Given the description of an element on the screen output the (x, y) to click on. 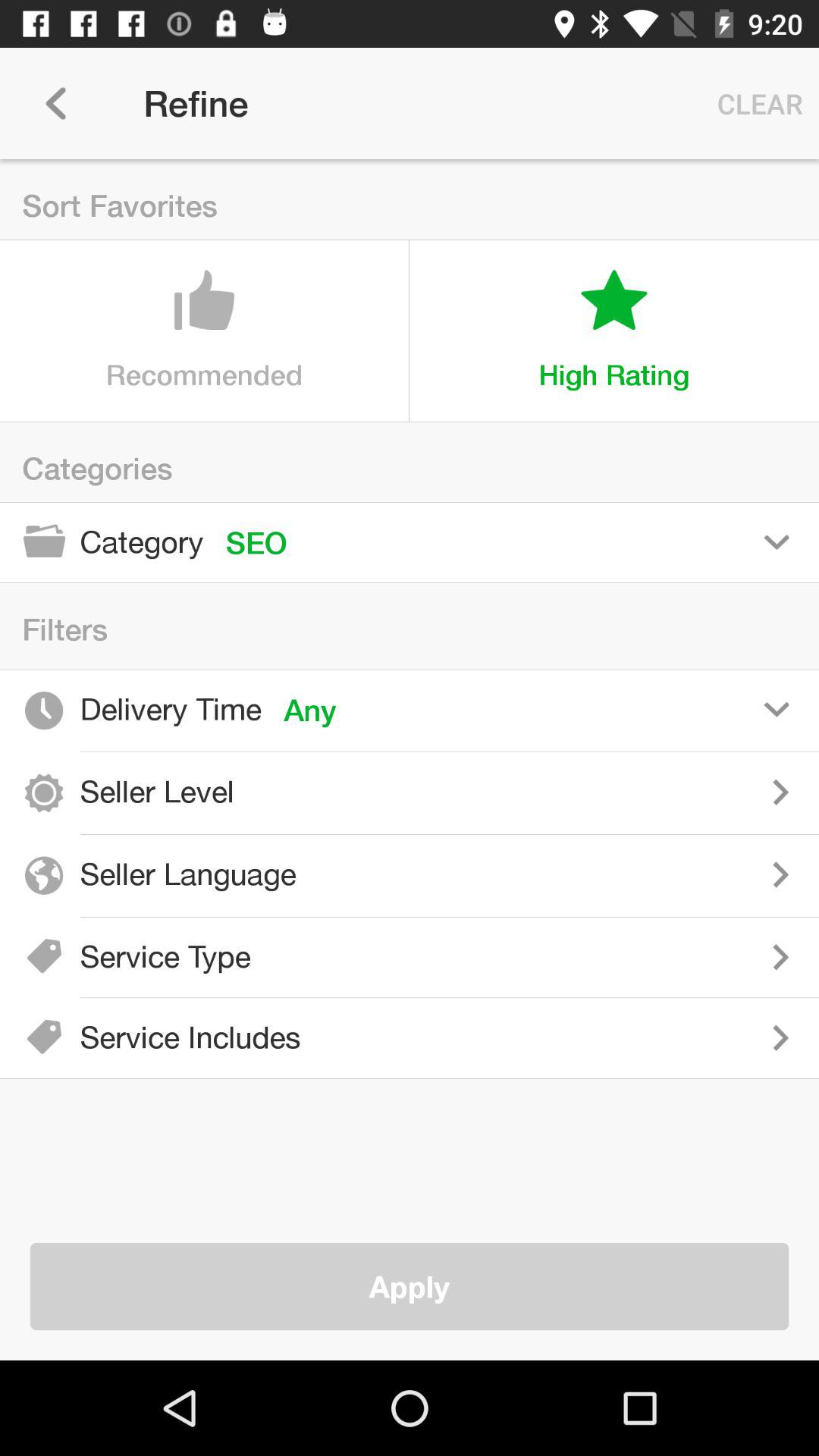
choose seller language (568, 874)
